Given the description of an element on the screen output the (x, y) to click on. 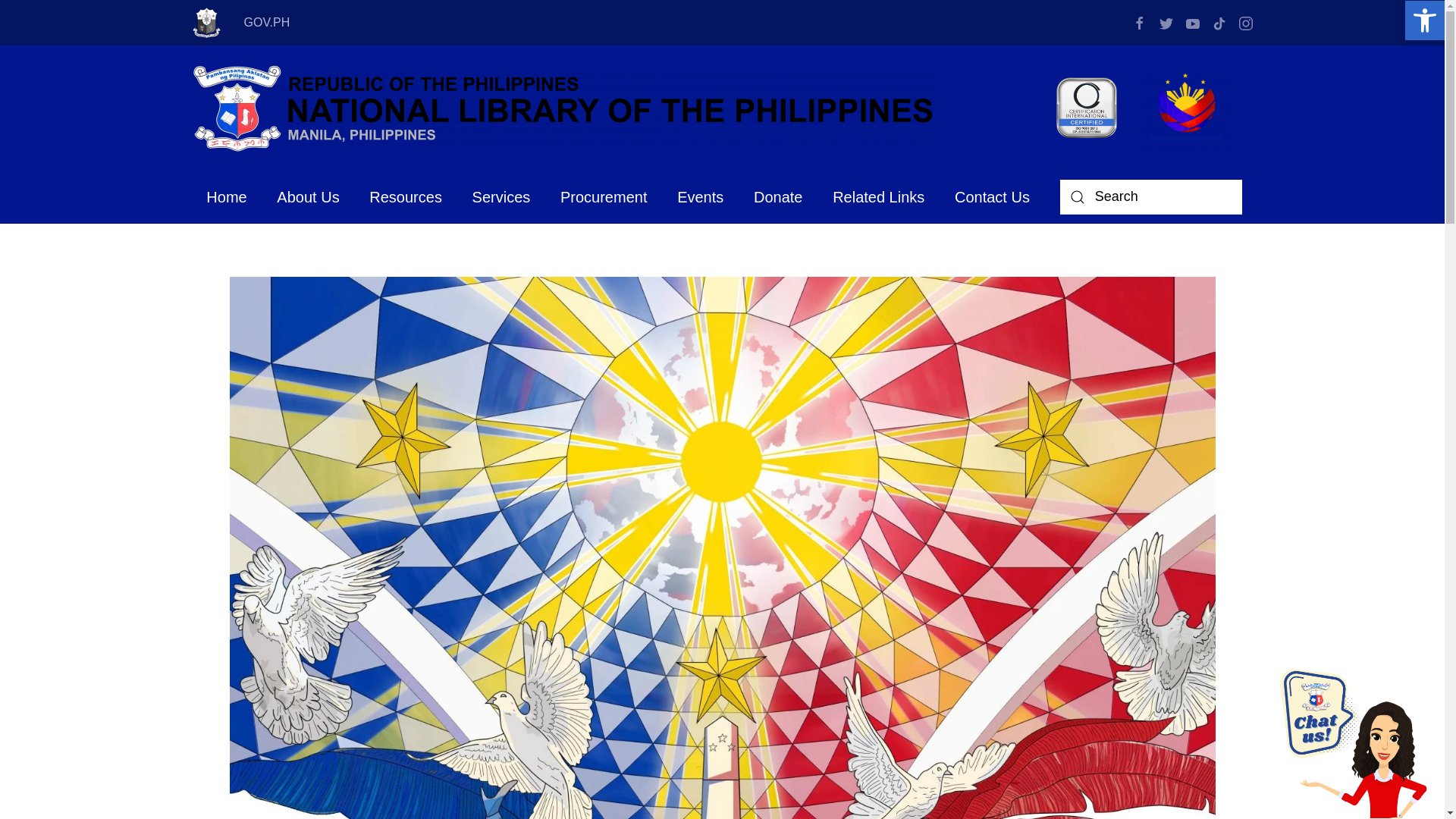
Accessibility Tools (1424, 20)
Home (226, 196)
About Us (308, 196)
